Given the description of an element on the screen output the (x, y) to click on. 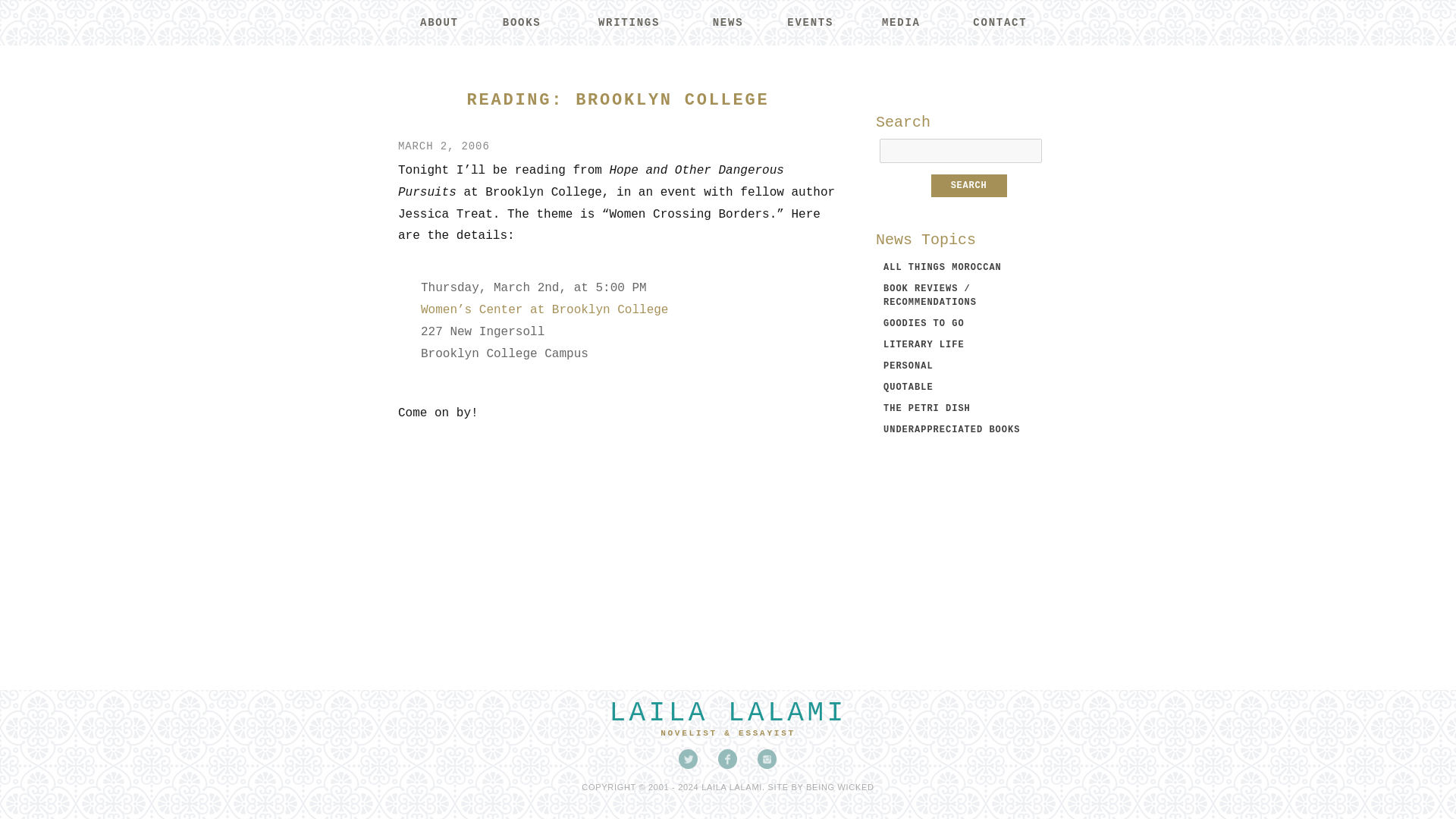
UNDERAPPRECIATED BOOKS (951, 429)
Instagram (767, 759)
BOOKS (521, 22)
PERSONAL (908, 366)
Twitter (688, 759)
ABOUT (438, 22)
BEING WICKED (840, 786)
Search (969, 185)
ALL THINGS MOROCCAN (942, 267)
CONTACT (1000, 22)
THE PETRI DISH (927, 408)
GOODIES TO GO (923, 323)
QUOTABLE (908, 387)
LAILA LALAMI (726, 712)
NEWS (727, 22)
